Given the description of an element on the screen output the (x, y) to click on. 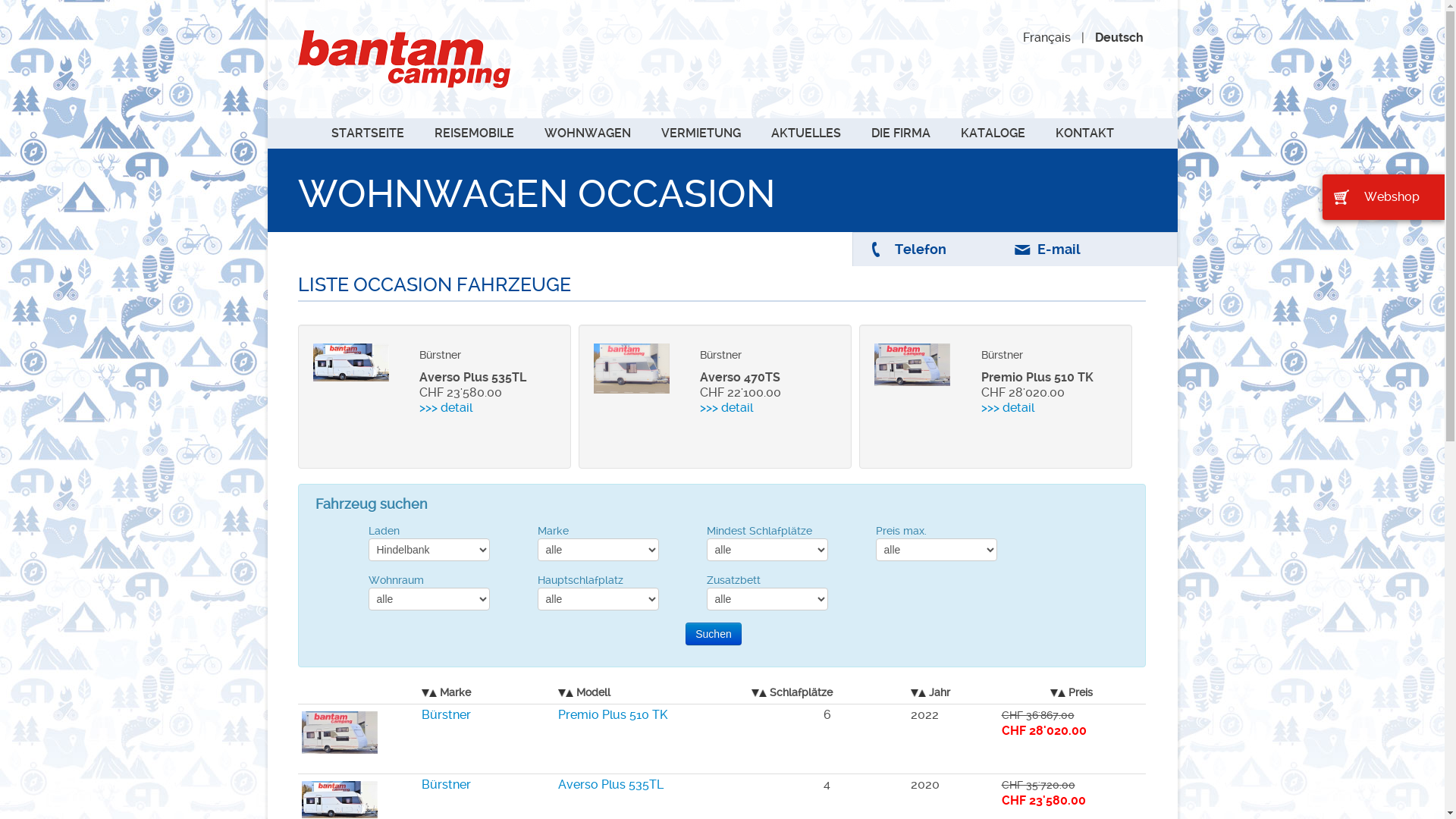
>>> detail Element type: text (1040, 407)
DIE FIRMA Element type: text (899, 133)
Suchen Element type: text (712, 633)
WOHNWAGEN Element type: text (587, 133)
E-mail Element type: text (1058, 249)
>>> detail Element type: text (478, 407)
Deutsch Element type: text (1119, 37)
>>> detail Element type: text (759, 407)
KONTAKT Element type: text (1084, 133)
Webshop Element type: text (1383, 196)
Premio Plus 510 TK Element type: text (612, 714)
VERMIETUNG Element type: text (700, 133)
Averso Plus 535TL Element type: text (610, 784)
KATALOGE Element type: text (992, 133)
AKTUELLES Element type: text (804, 133)
Telefon Element type: text (920, 249)
REISEMOBILE Element type: text (473, 133)
STARTSEITE Element type: text (366, 133)
